Given the description of an element on the screen output the (x, y) to click on. 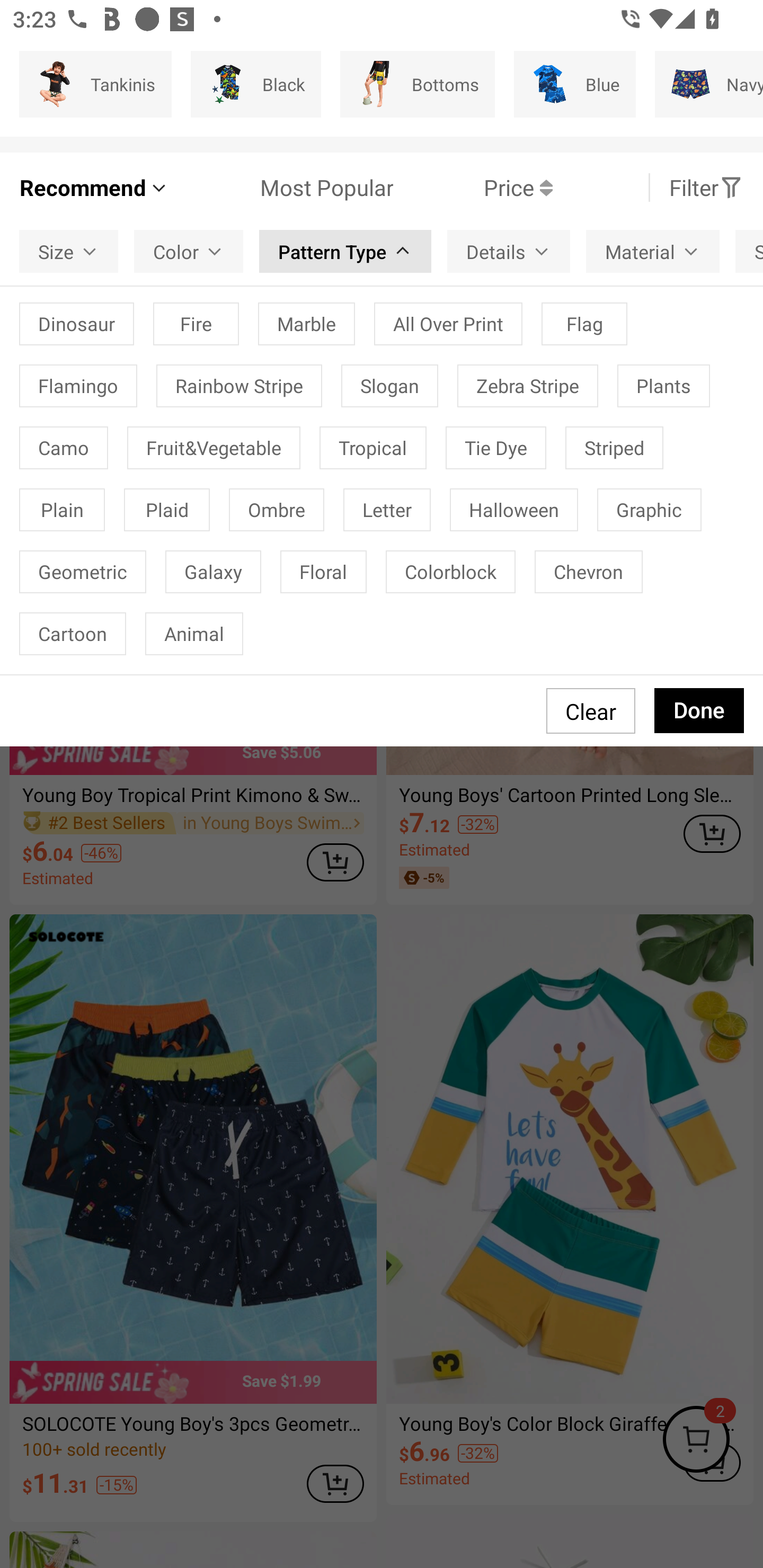
Tankinis (95, 83)
Black (255, 83)
Bottoms (417, 83)
Blue (574, 83)
Navy Blue (708, 83)
Recommend (94, 187)
Most Popular (280, 187)
Price (472, 187)
Filter (705, 187)
Size (68, 251)
Color (188, 251)
Pattern Type (345, 251)
Details (508, 251)
Material (652, 251)
